Given the description of an element on the screen output the (x, y) to click on. 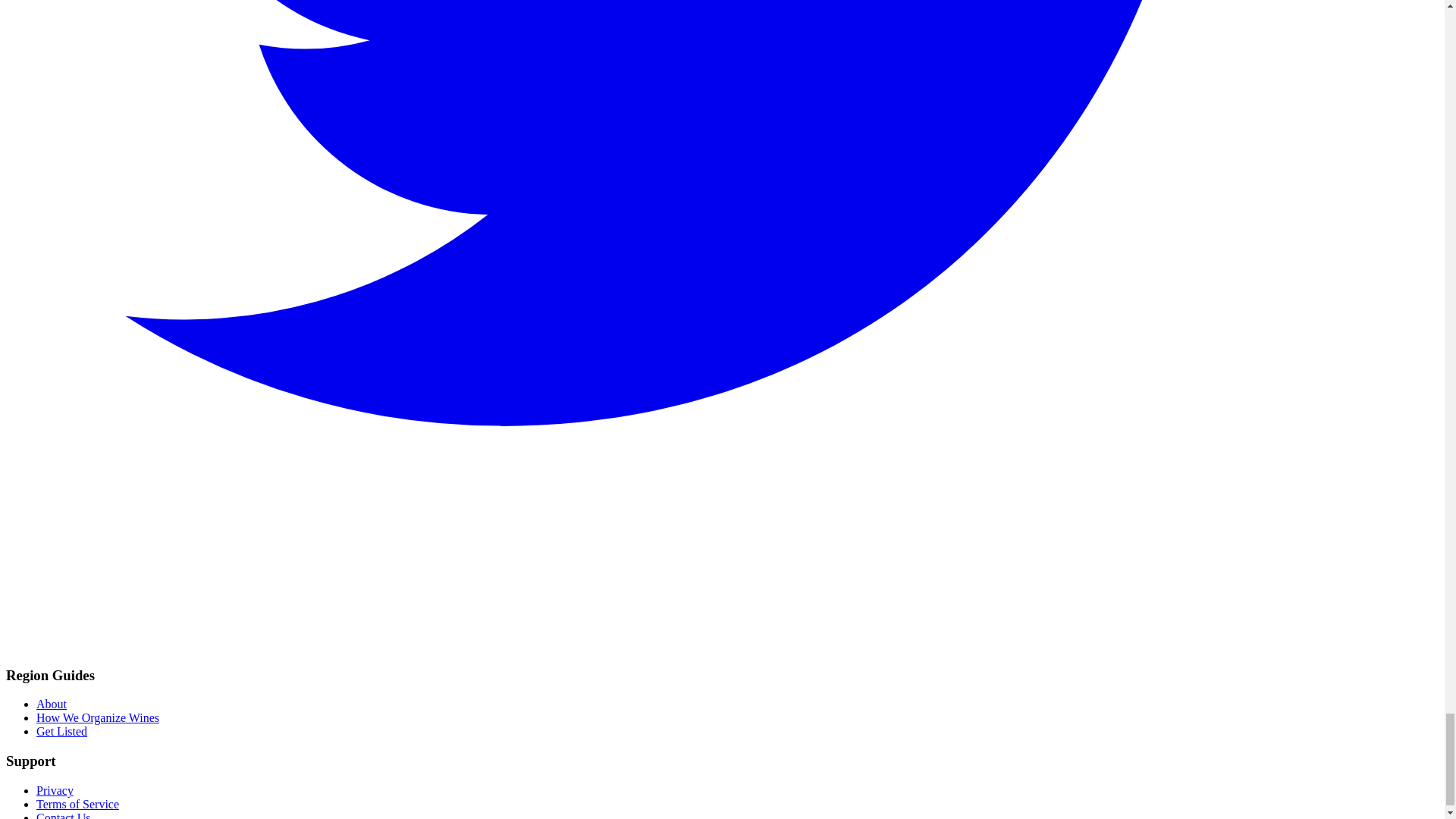
About (51, 703)
